Given the description of an element on the screen output the (x, y) to click on. 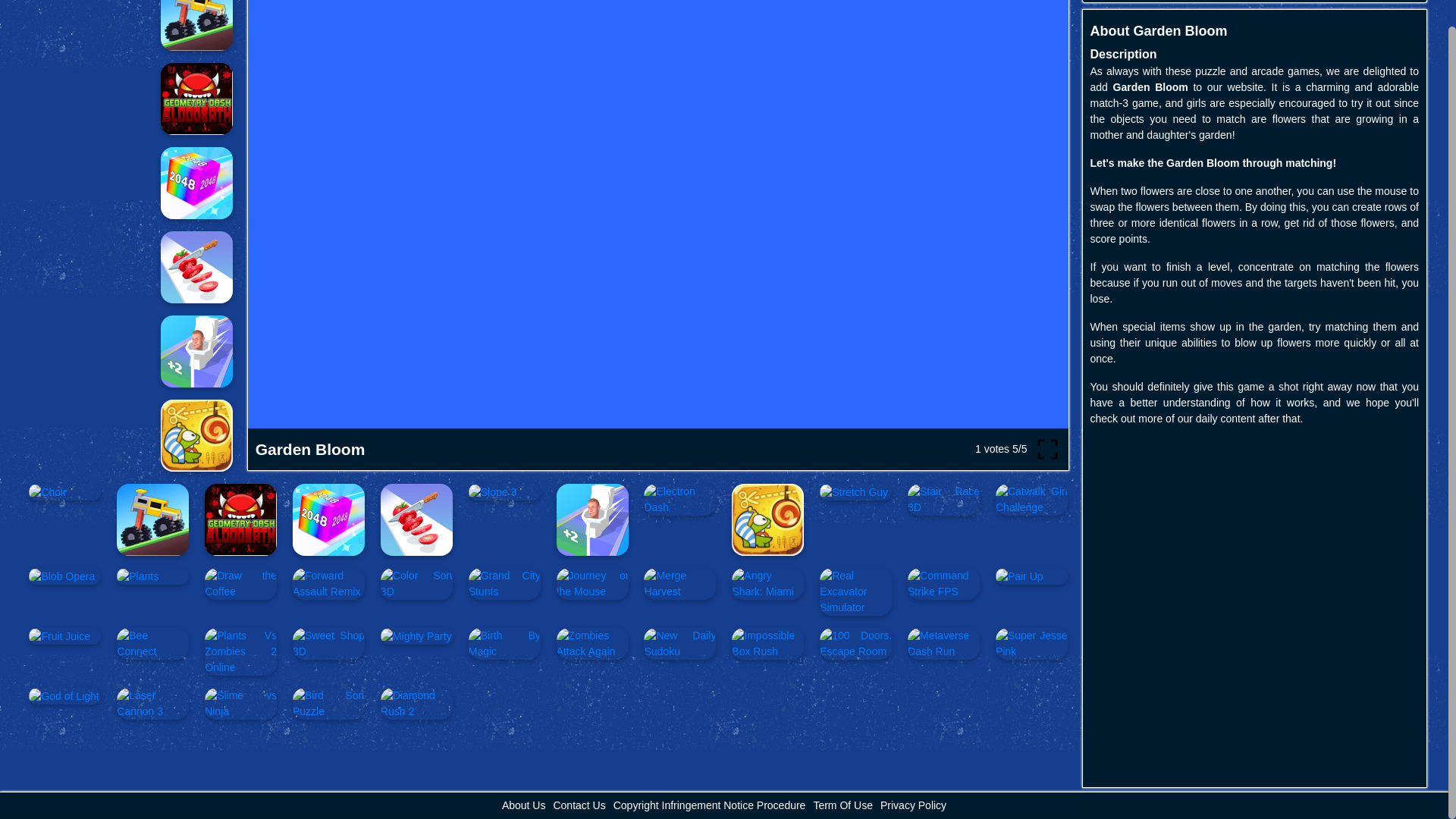
Drive Mad (196, 25)
Join Skibidi Clash 3D (196, 351)
Cut the Rope Time Travel (196, 435)
Perfect Slices Master (196, 266)
Chain Cube 2048: 3D Merge Game (196, 183)
Geometry Dash Bloodbath (196, 99)
